Given the description of an element on the screen output the (x, y) to click on. 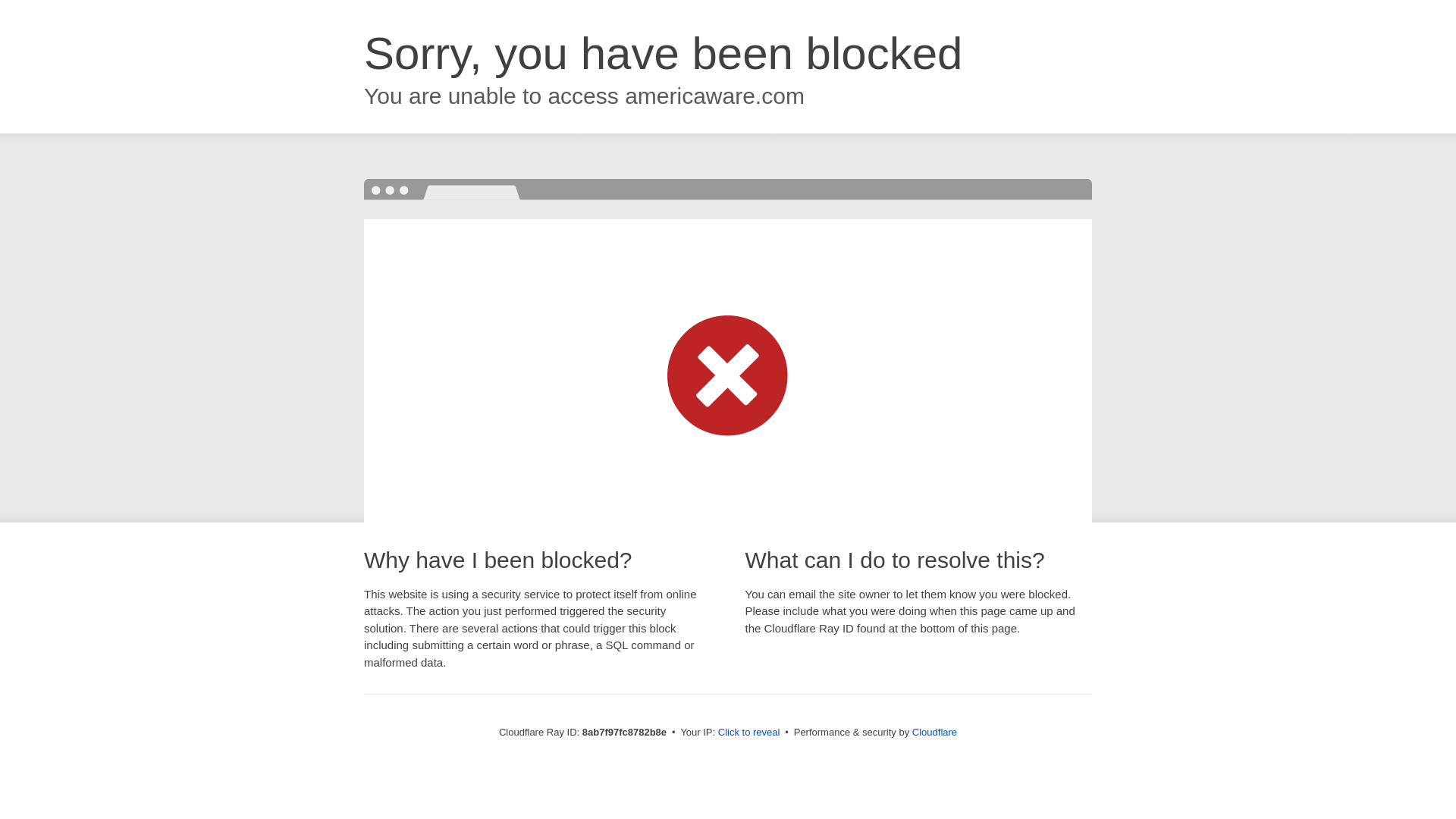
Click to reveal (748, 732)
Cloudflare (934, 731)
